Given the description of an element on the screen output the (x, y) to click on. 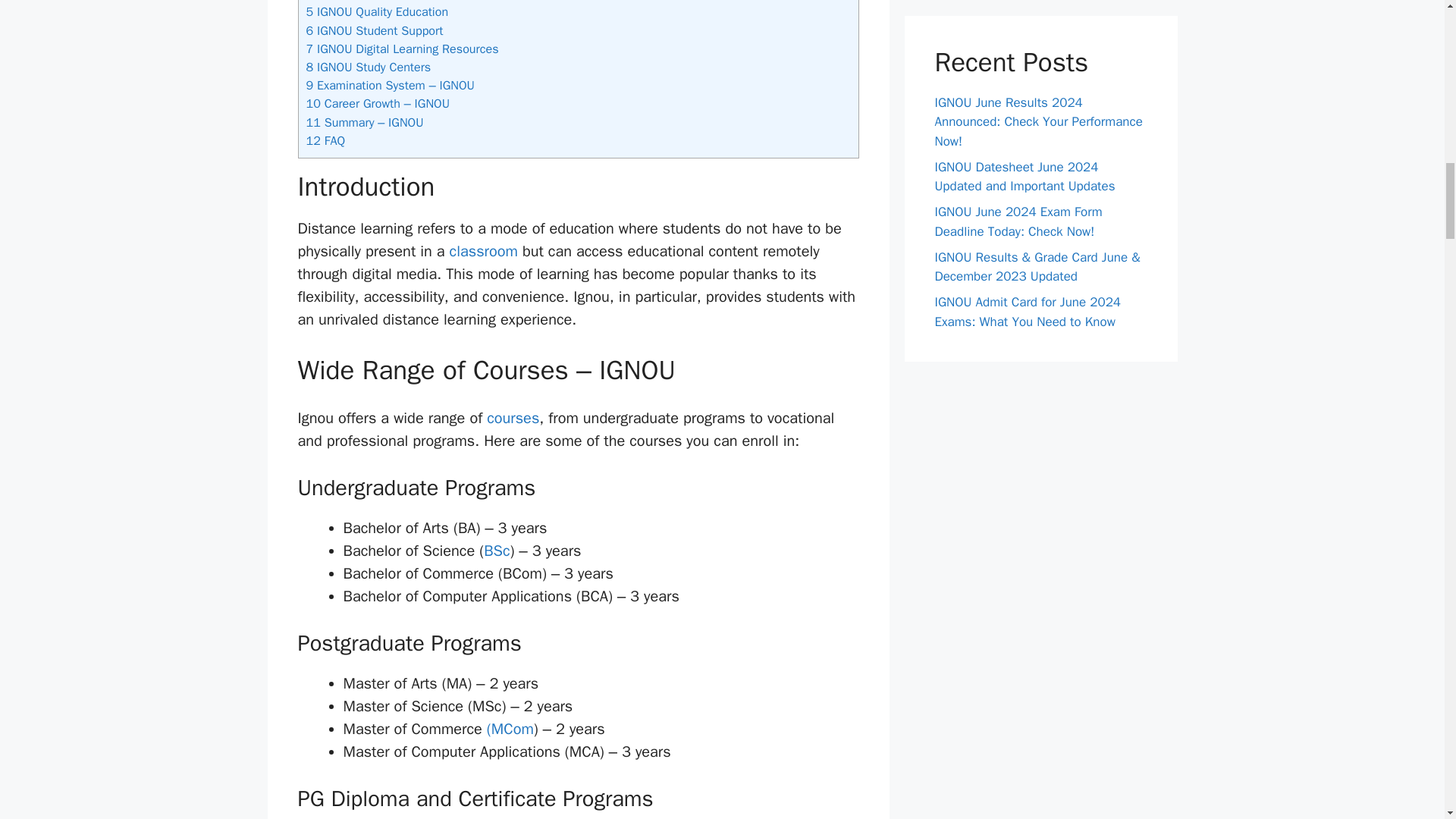
12 FAQ (325, 140)
8 IGNOU Study Centers (367, 66)
4 Affordable Fees- IGNOU (373, 0)
7 IGNOU Digital Learning Resources (402, 48)
courses (512, 417)
BSc (496, 550)
6 IGNOU Student Support (374, 30)
BSc (496, 550)
classroom (481, 251)
5 IGNOU Quality Education (376, 11)
